Given the description of an element on the screen output the (x, y) to click on. 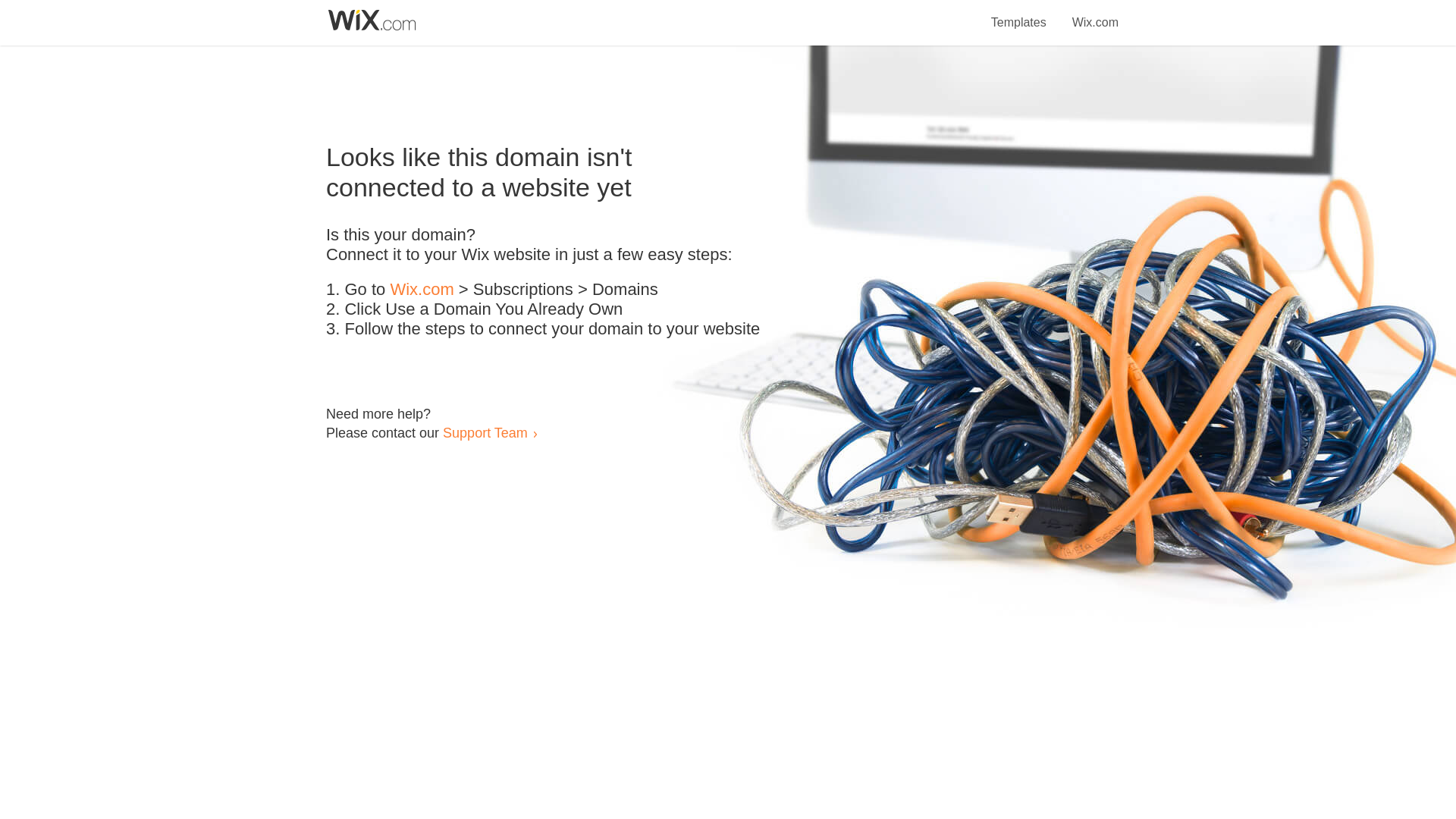
Templates (1018, 14)
Wix.com (421, 289)
Support Team (484, 432)
Wix.com (1095, 14)
